Given the description of an element on the screen output the (x, y) to click on. 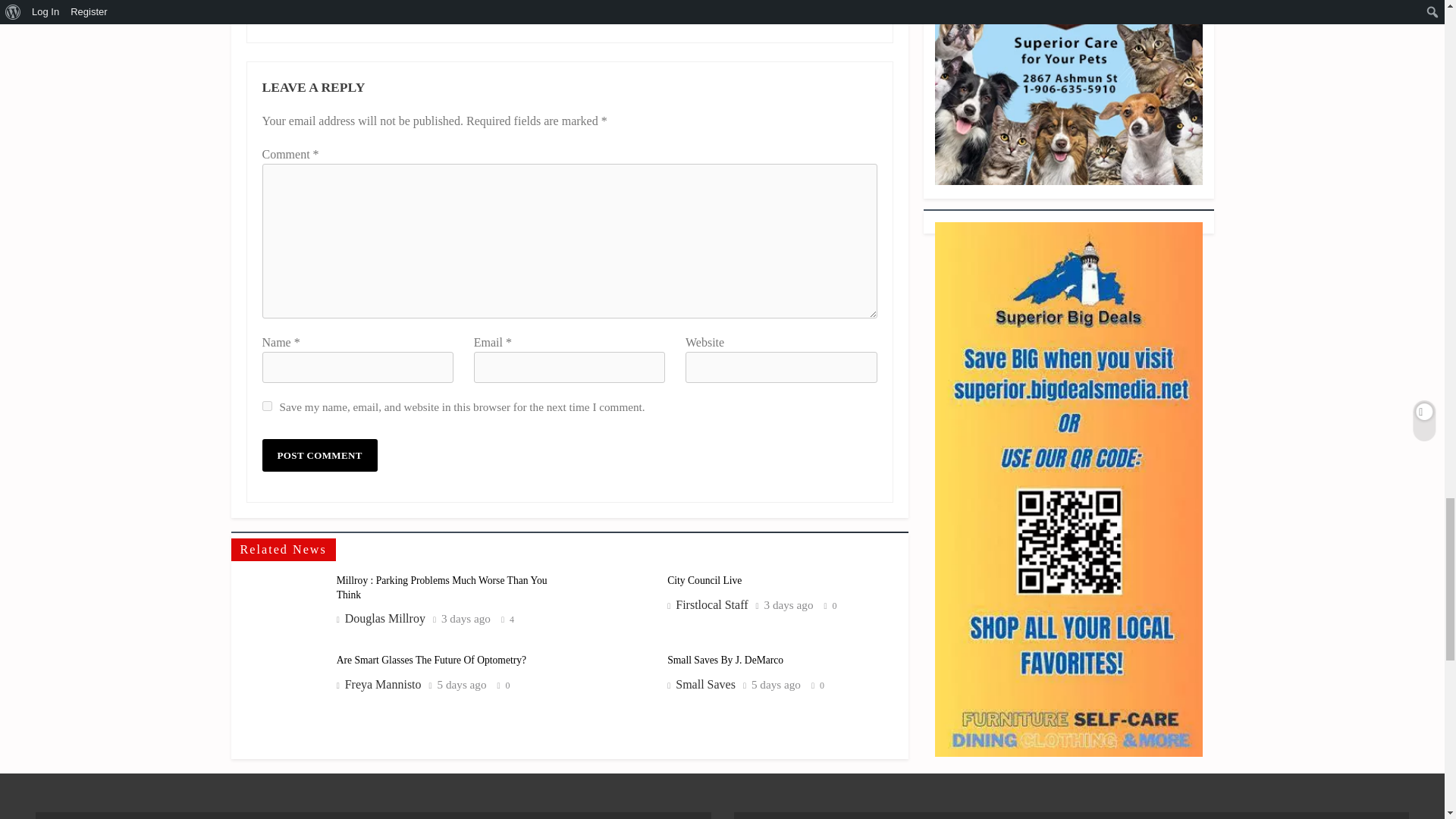
yes (267, 406)
Post Comment (319, 454)
